Given the description of an element on the screen output the (x, y) to click on. 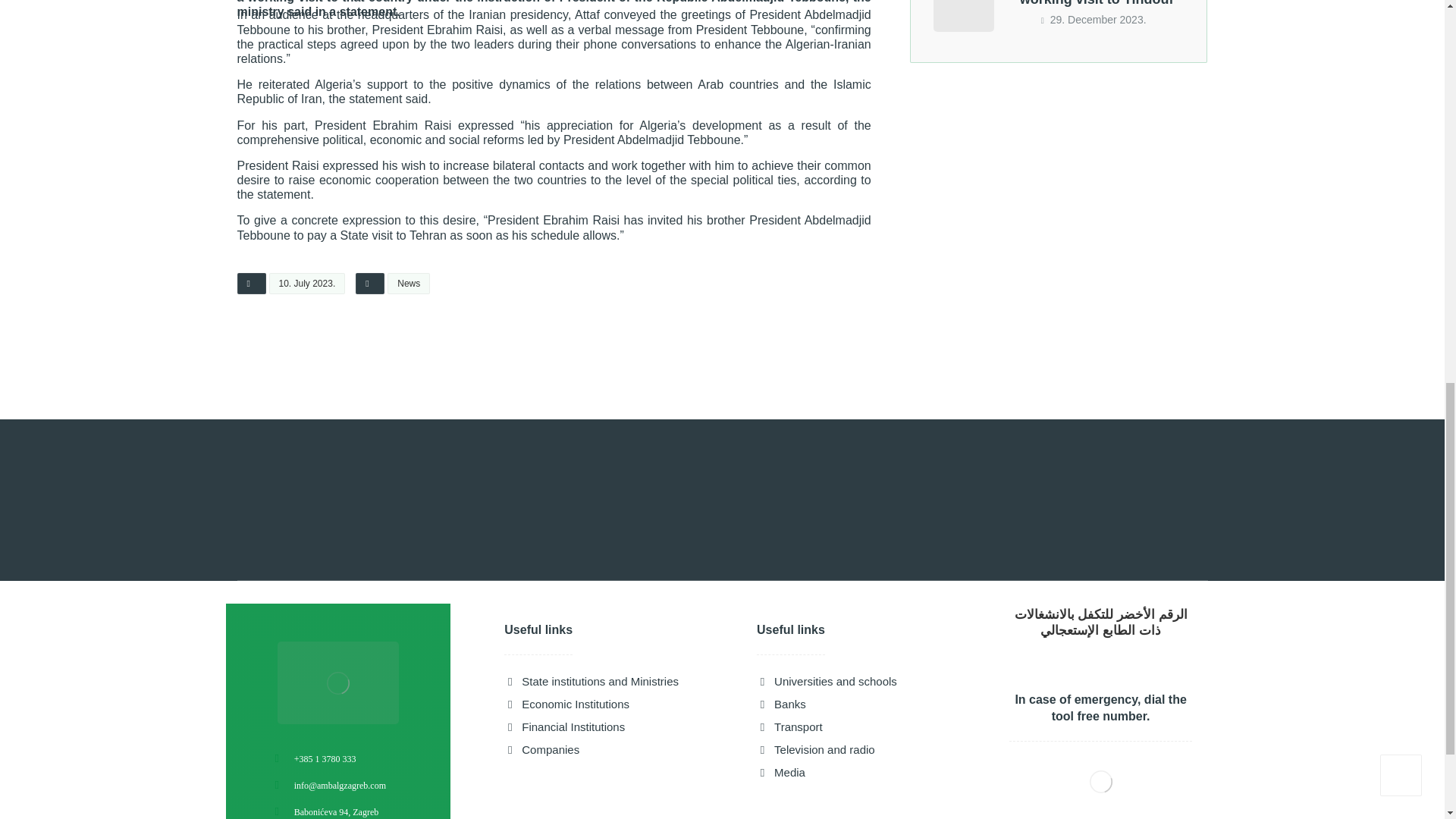
Prime minister starts working visit to Tindouf (963, 15)
Prime minister starts working visit to Tindouf (1096, 3)
Published on (291, 287)
